Given the description of an element on the screen output the (x, y) to click on. 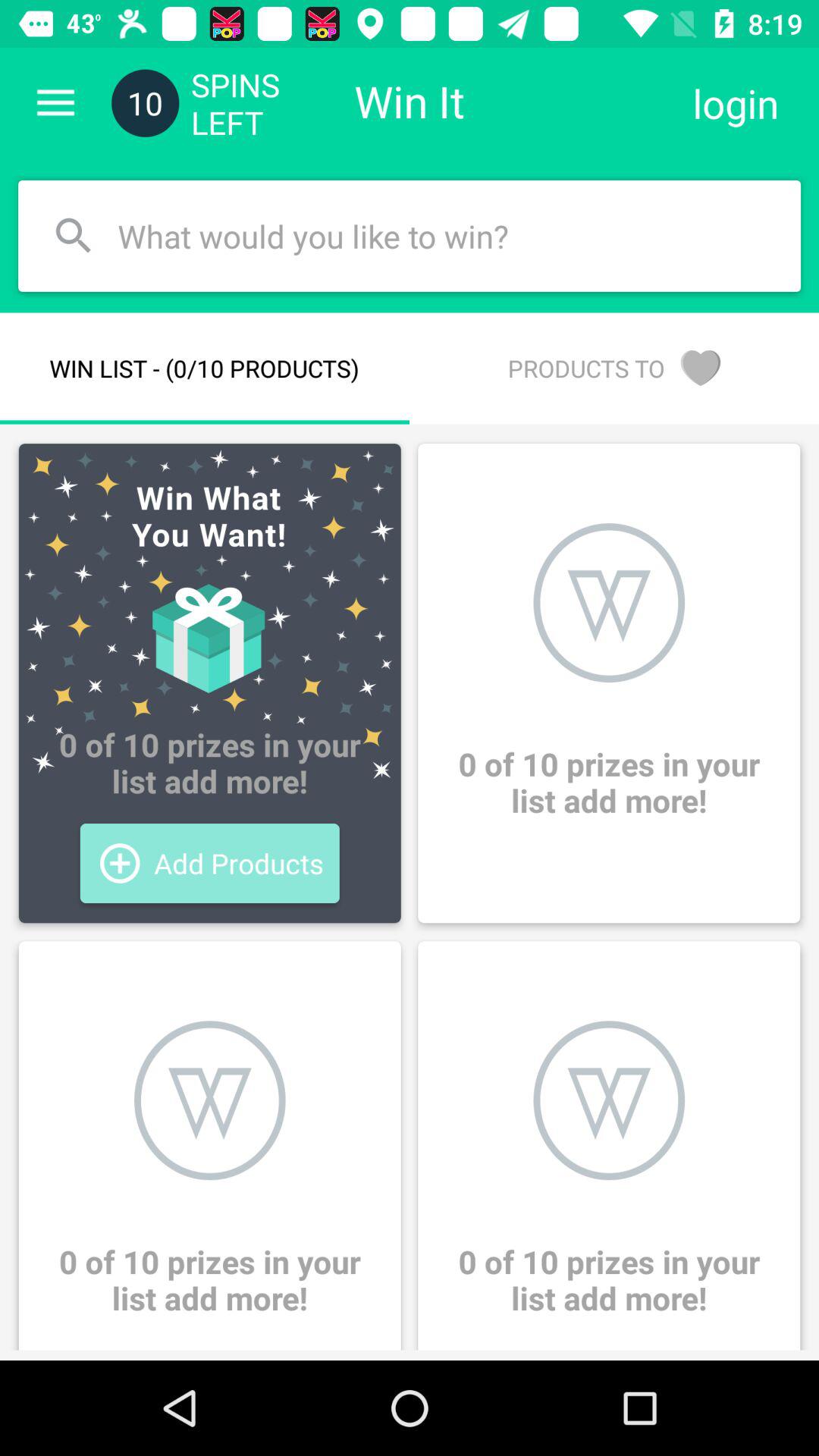
click icon above the products to  icon (735, 102)
